Given the description of an element on the screen output the (x, y) to click on. 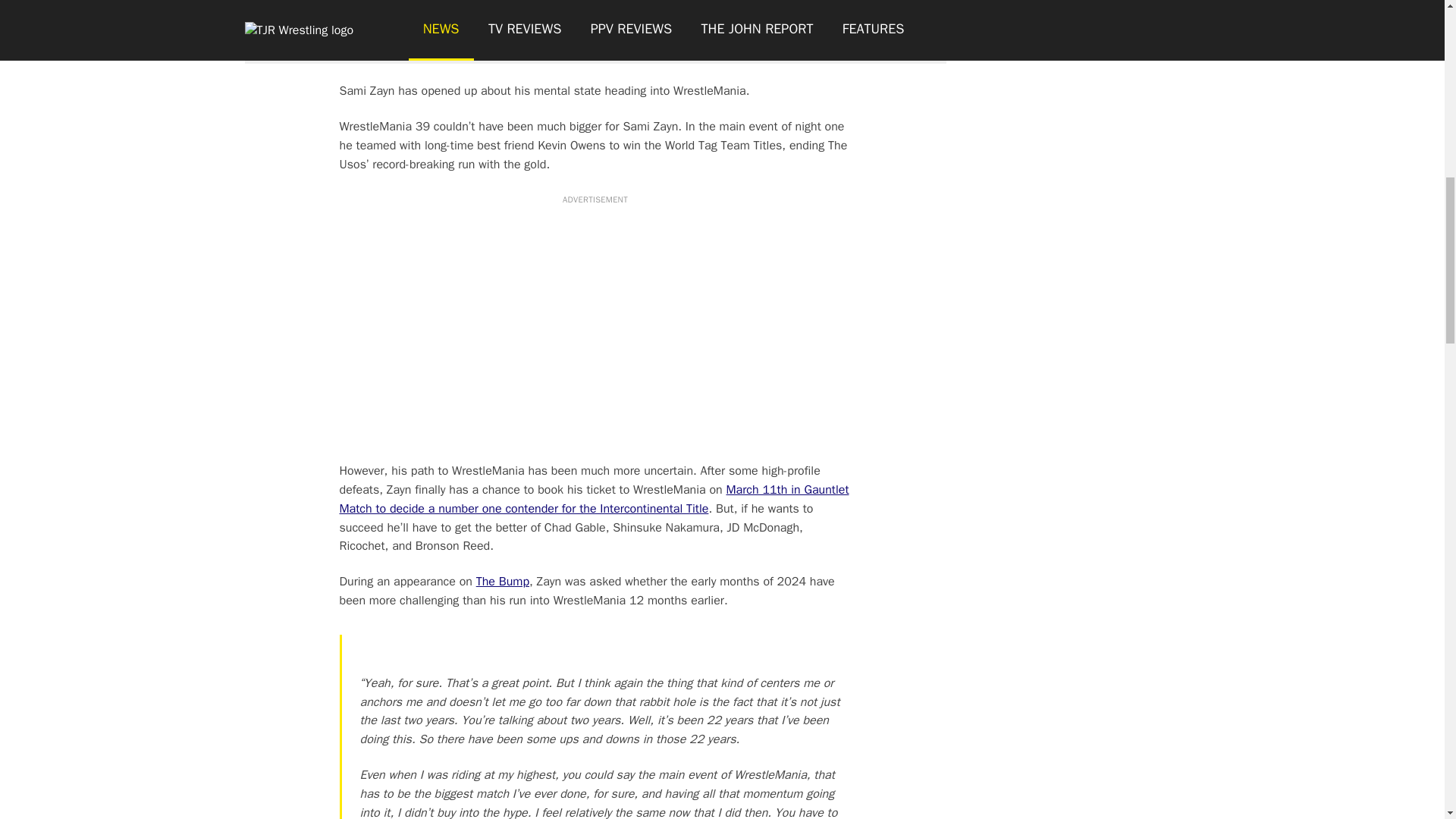
The Bump (502, 581)
